Given the description of an element on the screen output the (x, y) to click on. 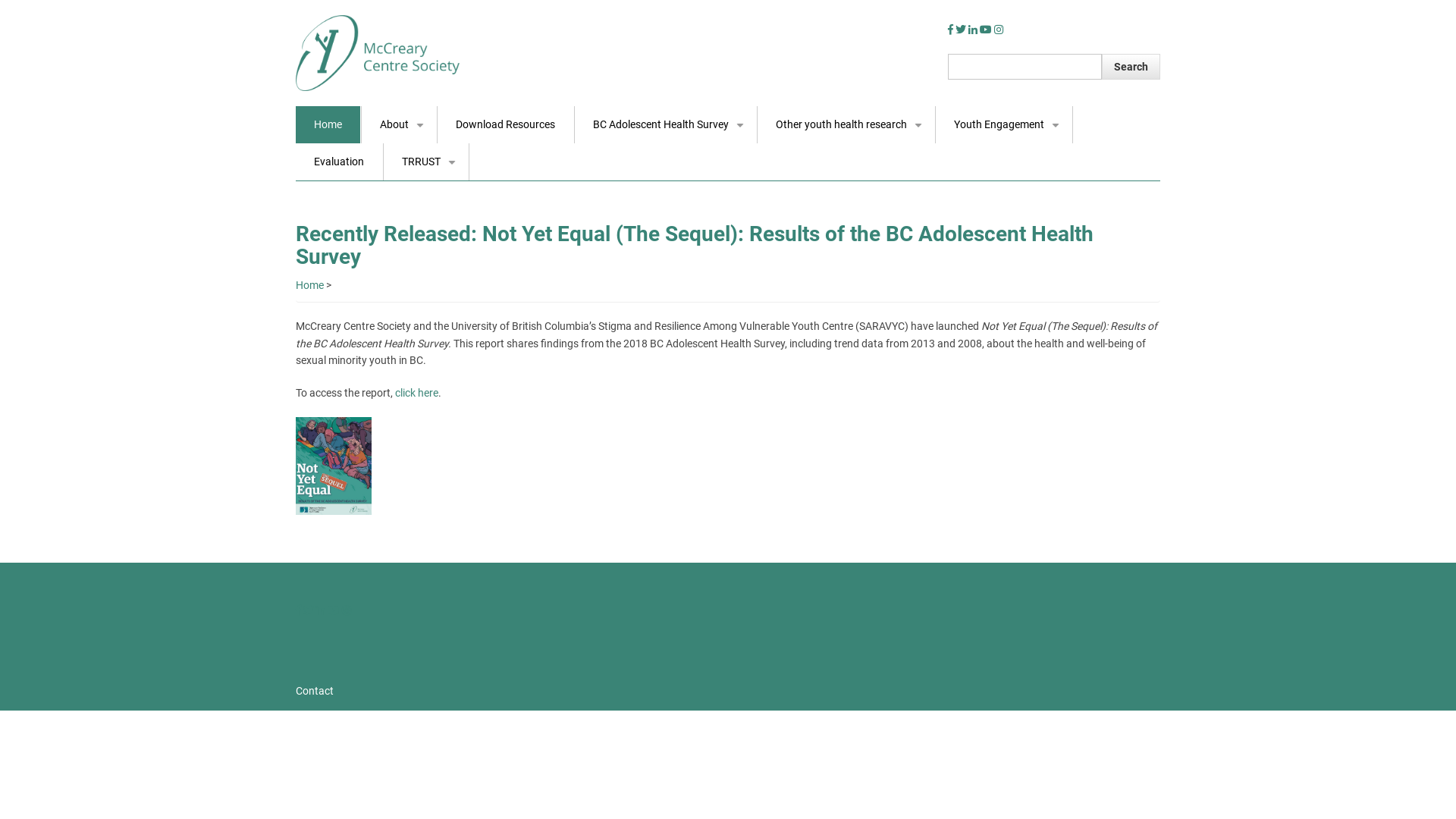
+
TRRUST Element type: text (425, 161)
Evaluation Element type: text (338, 161)
Home Element type: hover (377, 52)
click here Element type: text (416, 392)
Search Element type: text (1130, 66)
+
BC Adolescent Health Survey Element type: text (665, 124)
Enter the terms you wish to search for. Element type: hover (1024, 66)
Home Element type: text (327, 124)
Download Resources Element type: text (505, 124)
Home Element type: text (309, 285)
+
Youth Engagement Element type: text (1003, 124)
Contact Element type: text (321, 690)
+
Other youth health research Element type: text (845, 124)
Skip to main content Element type: text (0, 0)
+
About Element type: text (398, 124)
